Given the description of an element on the screen output the (x, y) to click on. 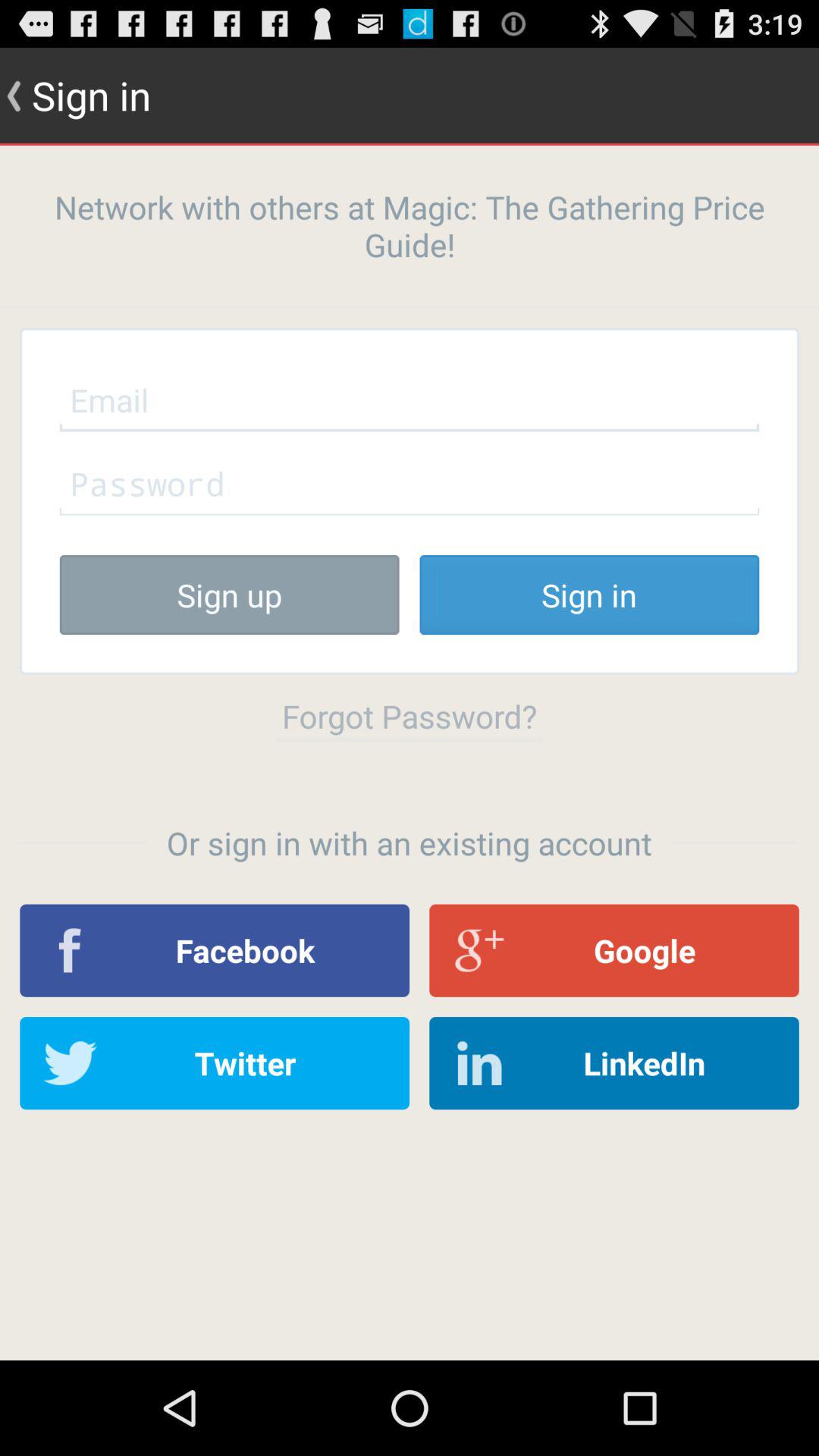
open the icon below the or sign in icon (214, 950)
